Given the description of an element on the screen output the (x, y) to click on. 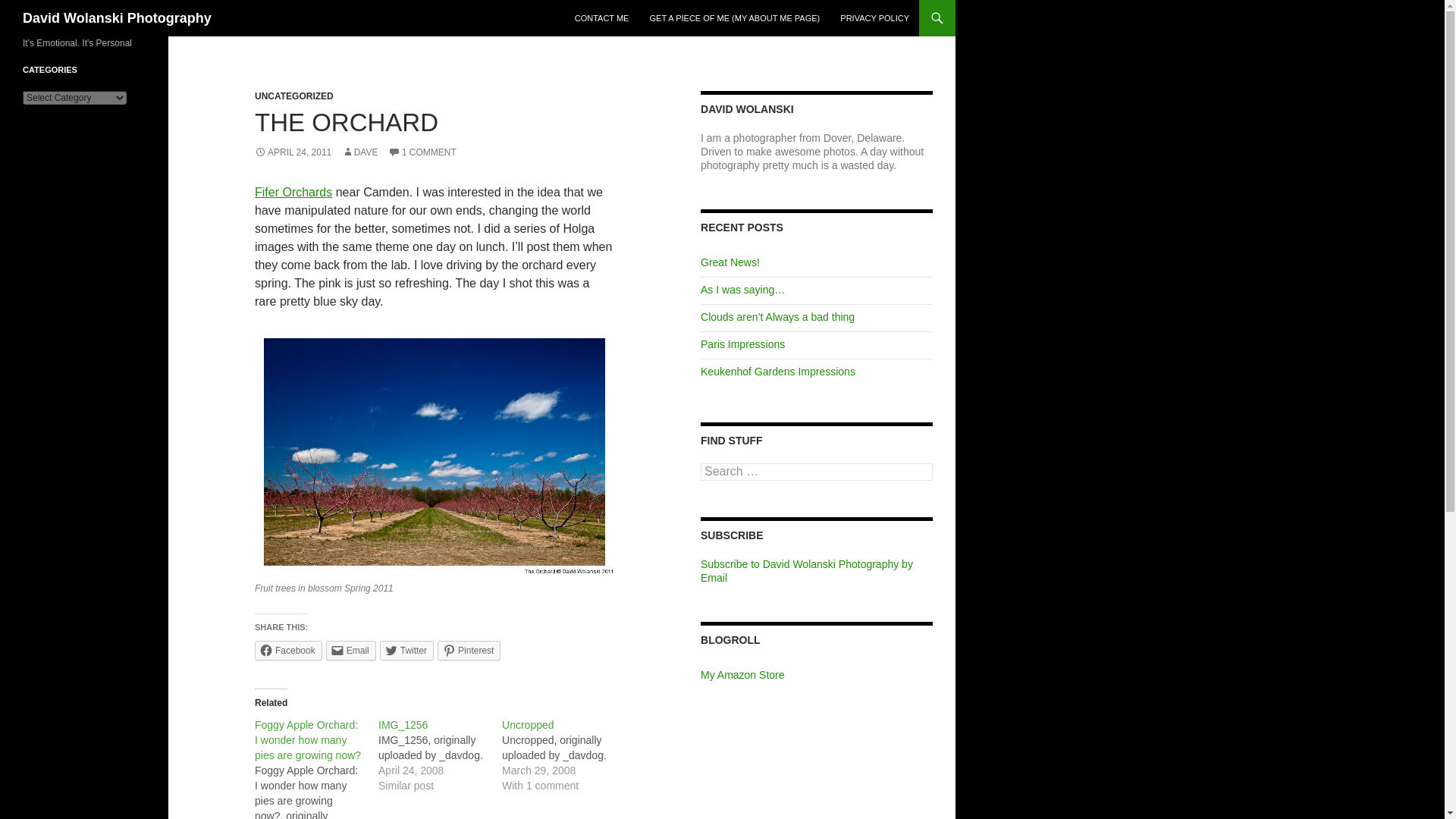
Click to email a link to a friend (350, 650)
Keukenhof Gardens Impressions (778, 371)
Gear and books I have or want (742, 674)
DAVE (360, 152)
Fifer Orchards (292, 192)
1 COMMENT (422, 152)
Foggy Apple Orchard: I wonder how many pies are growing now? (316, 768)
Paris Impressions (742, 344)
Uncropped (564, 755)
Click to share on Twitter (406, 650)
Fifer Orchard, Camden, DE (434, 451)
UNCATEGORIZED (293, 95)
Uncropped (528, 725)
Twitter (406, 650)
My Amazon Store (742, 674)
